Given the description of an element on the screen output the (x, y) to click on. 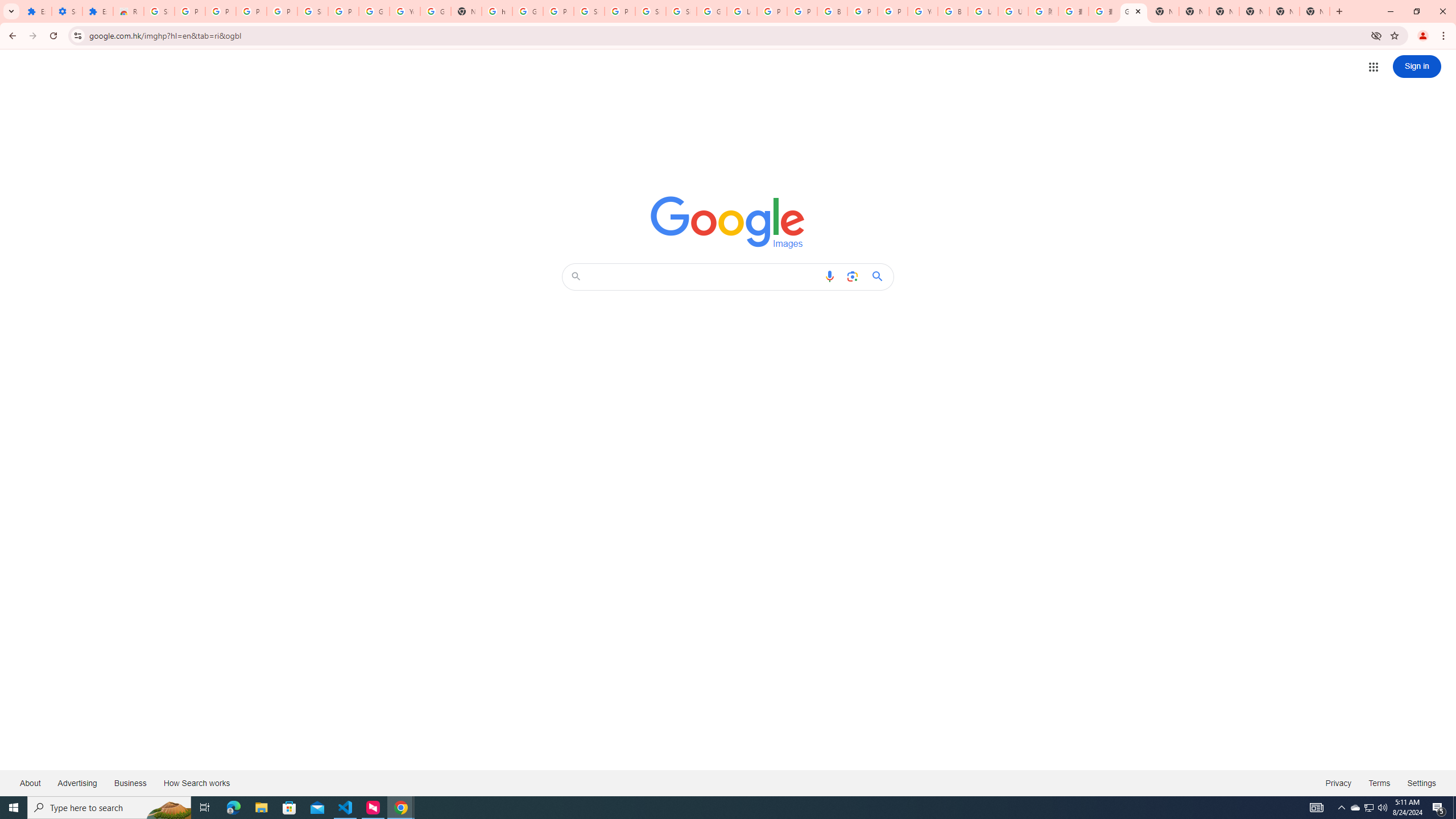
New Tab (1314, 11)
Sign in - Google Accounts (312, 11)
